Given the description of an element on the screen output the (x, y) to click on. 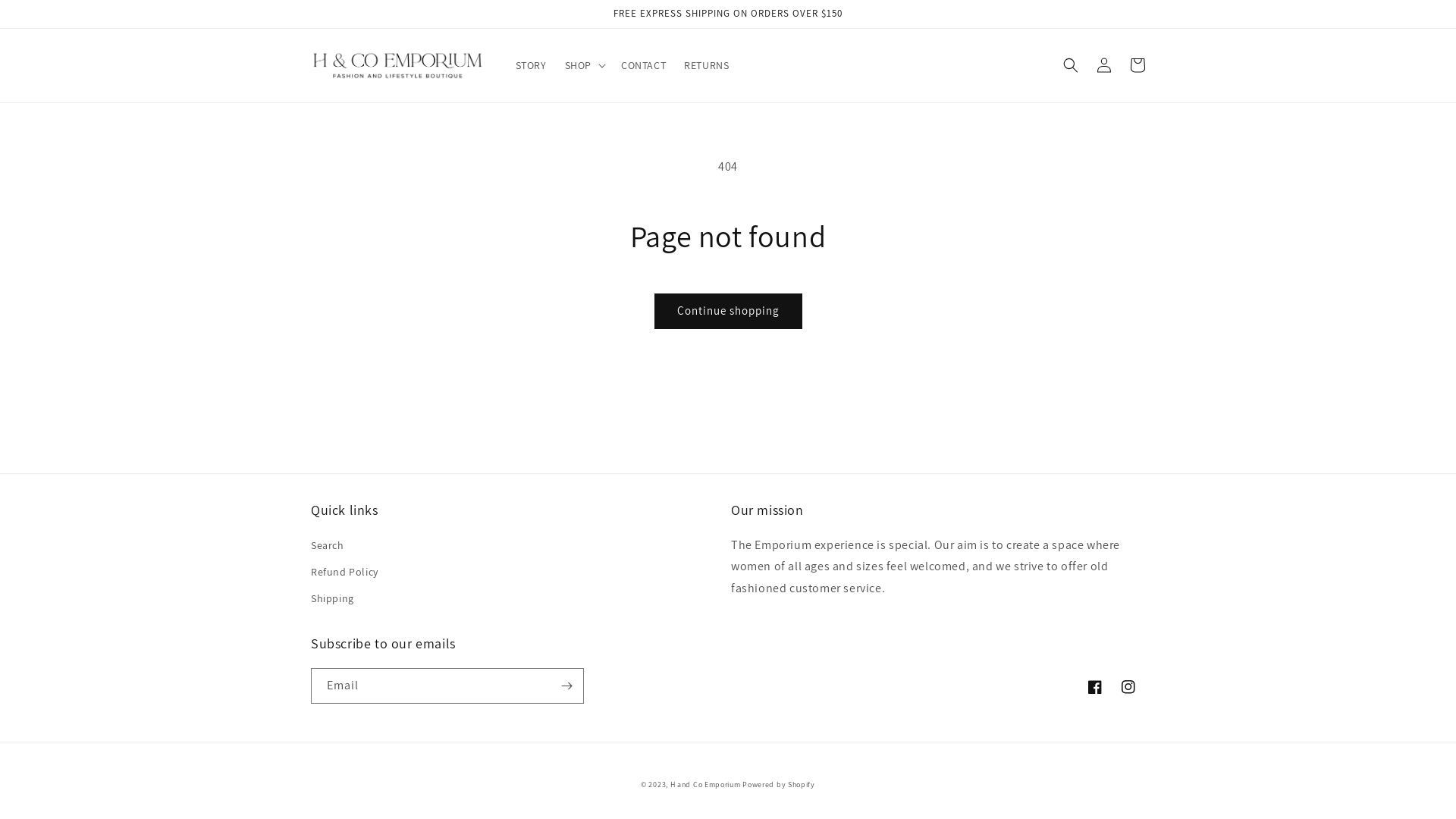
Continue shopping Element type: text (727, 311)
Powered by Shopify Element type: text (778, 784)
Search Element type: text (327, 547)
Facebook Element type: text (1094, 686)
Log in Element type: text (1103, 64)
CONTACT Element type: text (642, 65)
RETURNS Element type: text (705, 65)
Shipping Element type: text (332, 598)
H and Co Emporium Element type: text (705, 784)
Cart Element type: text (1137, 64)
Refund Policy Element type: text (344, 571)
Instagram Element type: text (1128, 686)
STORY Element type: text (530, 65)
